Given the description of an element on the screen output the (x, y) to click on. 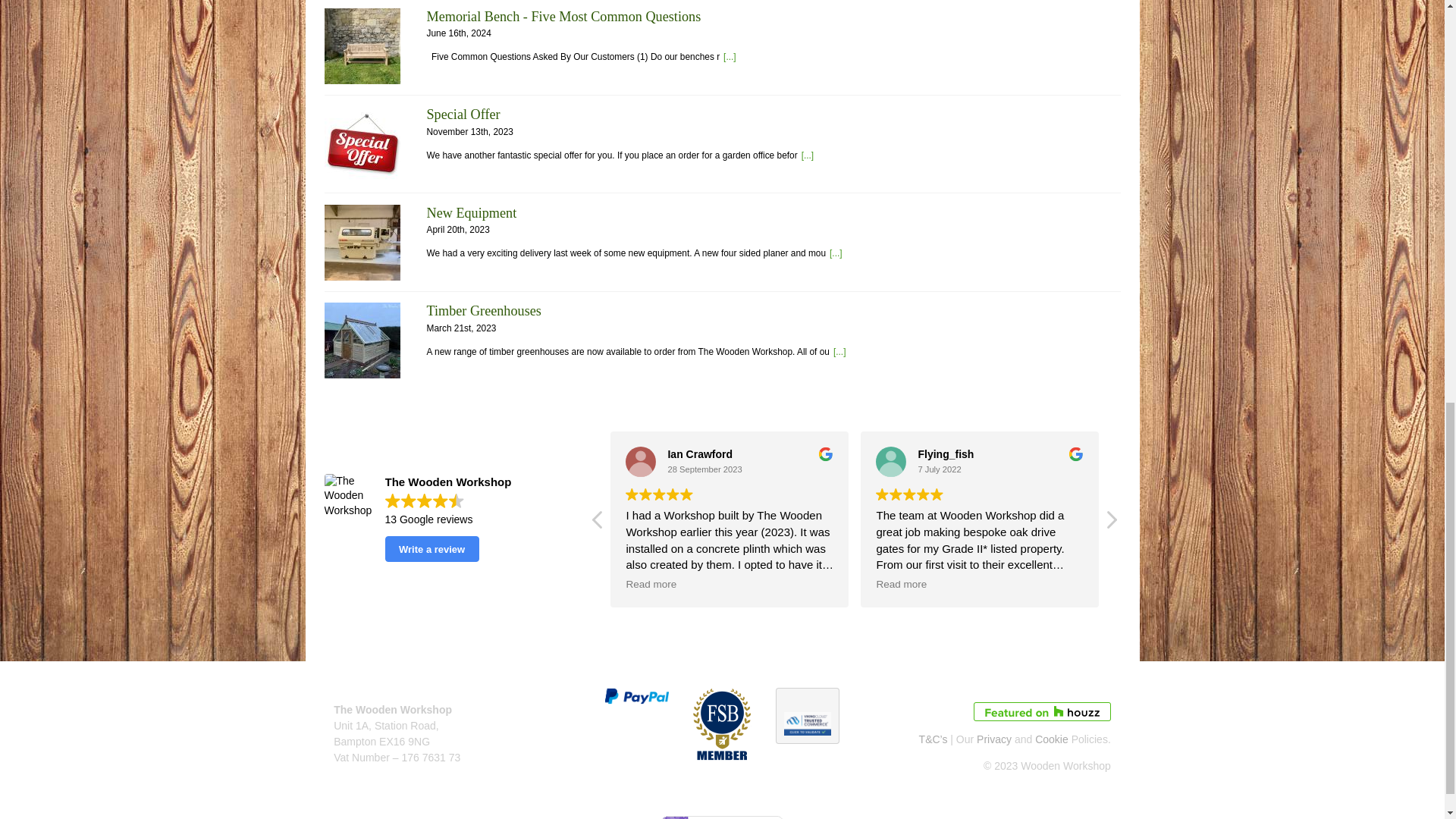
Memorial Bench - Five Most Common Questions (563, 16)
New Equipment (471, 212)
New Equipment (836, 253)
Timber Greenhouses (838, 351)
Special Offer (462, 114)
Timber Greenhouses (362, 340)
Memorial Bench - Five Most Common Questions (362, 46)
Timber Greenhouses (483, 310)
Special Offer (362, 143)
Memorial Bench - Five Most Common Questions (729, 56)
Special Offer (807, 154)
New Equipment (362, 242)
